Given the description of an element on the screen output the (x, y) to click on. 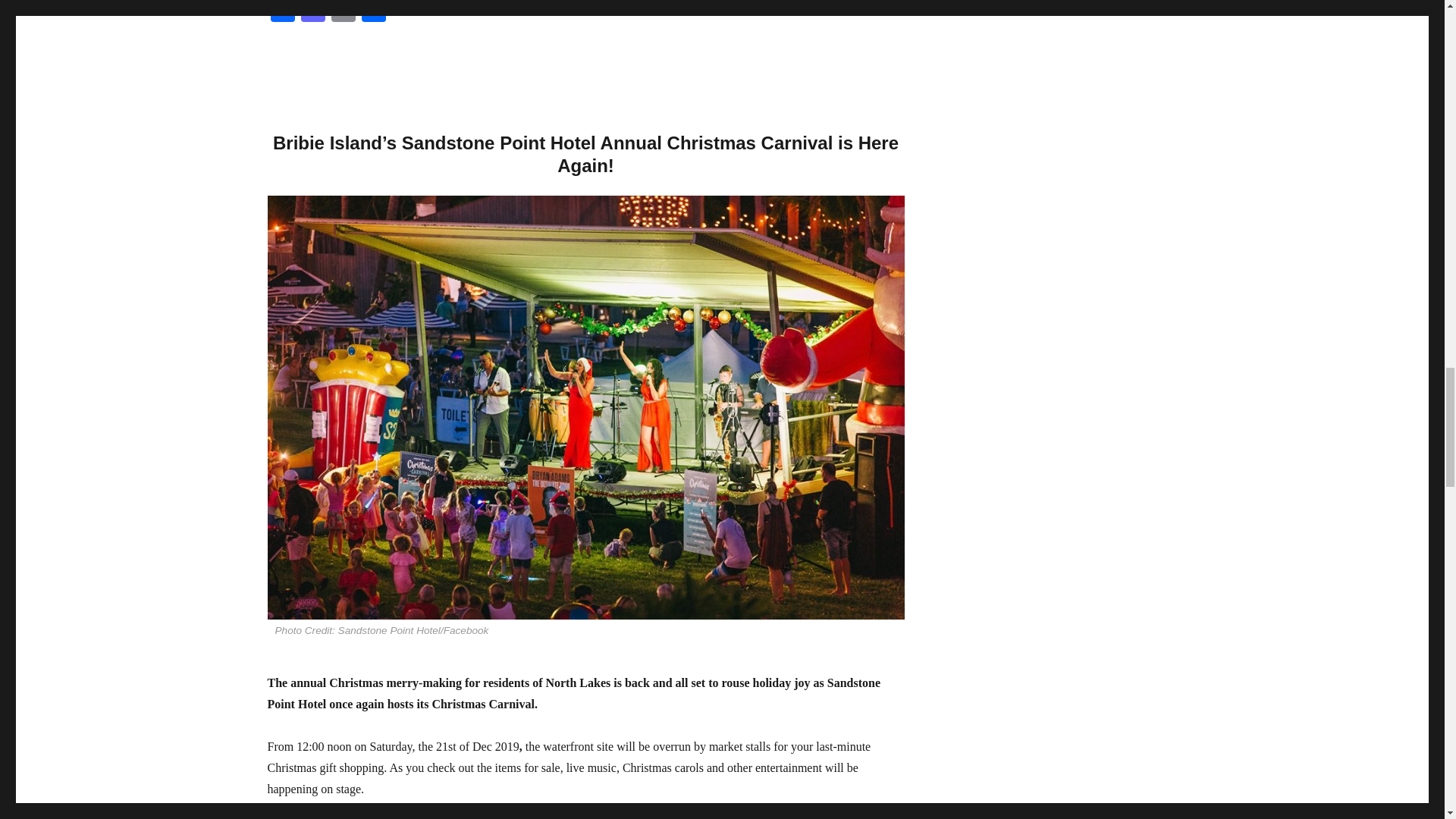
Facebook (281, 12)
Email (342, 12)
Mastodon (312, 12)
Email (342, 12)
Facebook (281, 12)
Share (373, 12)
Mastodon (312, 12)
